Given the description of an element on the screen output the (x, y) to click on. 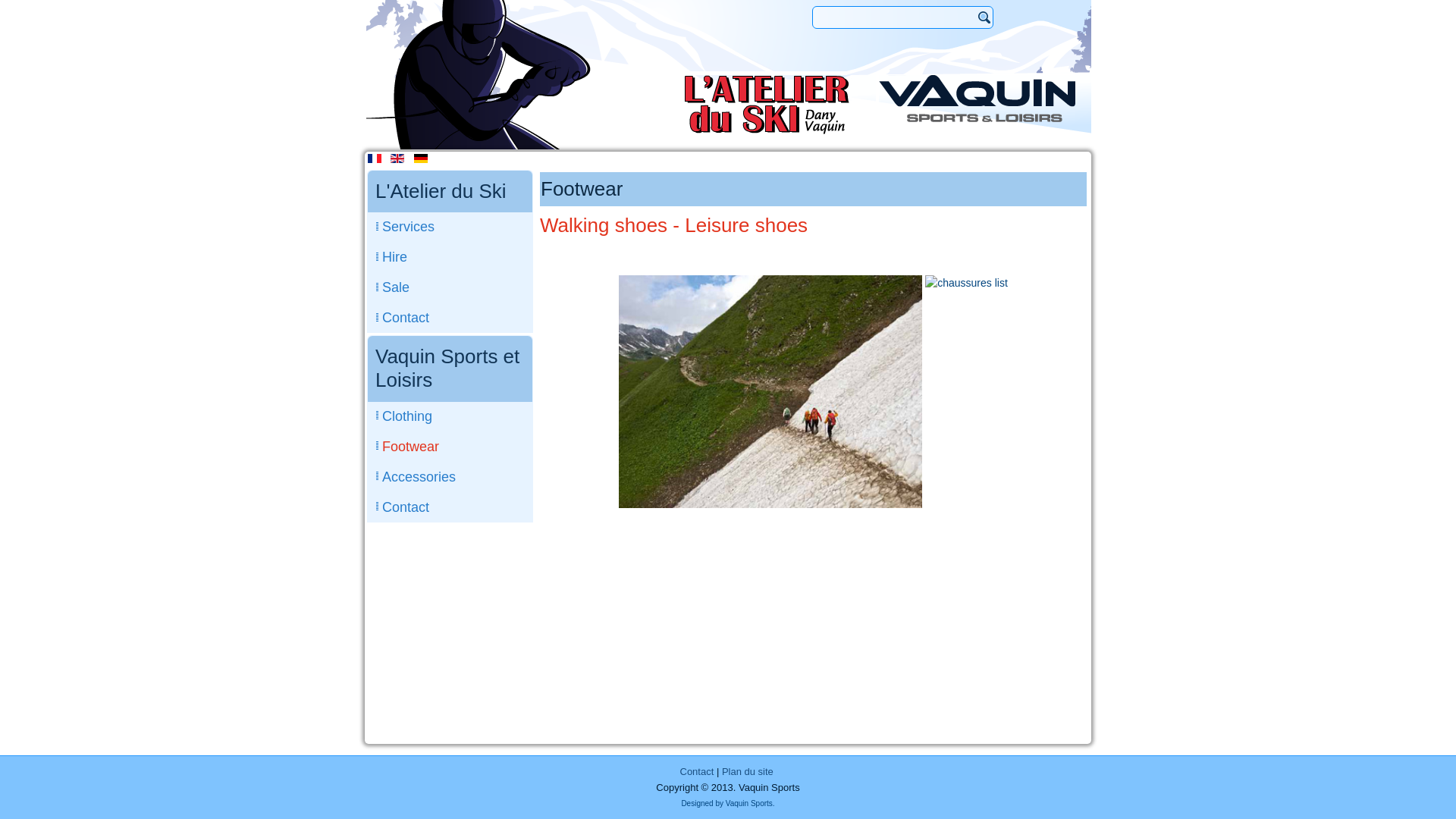
Plan du site Element type: text (747, 771)
Hire Element type: text (449, 256)
Sale Element type: text (449, 287)
English Element type: hover (397, 158)
Atelier du Ski Element type: hover (766, 104)
Contact Element type: text (449, 506)
Clothing Element type: text (449, 415)
Accessories Element type: text (449, 476)
Services Element type: text (449, 226)
Contact Element type: text (449, 317)
Deutsch Element type: hover (420, 158)
Vaquin Sports et Loisirs Element type: hover (976, 98)
Contact Element type: text (696, 771)
Footwear Element type: text (449, 446)
